Given the description of an element on the screen output the (x, y) to click on. 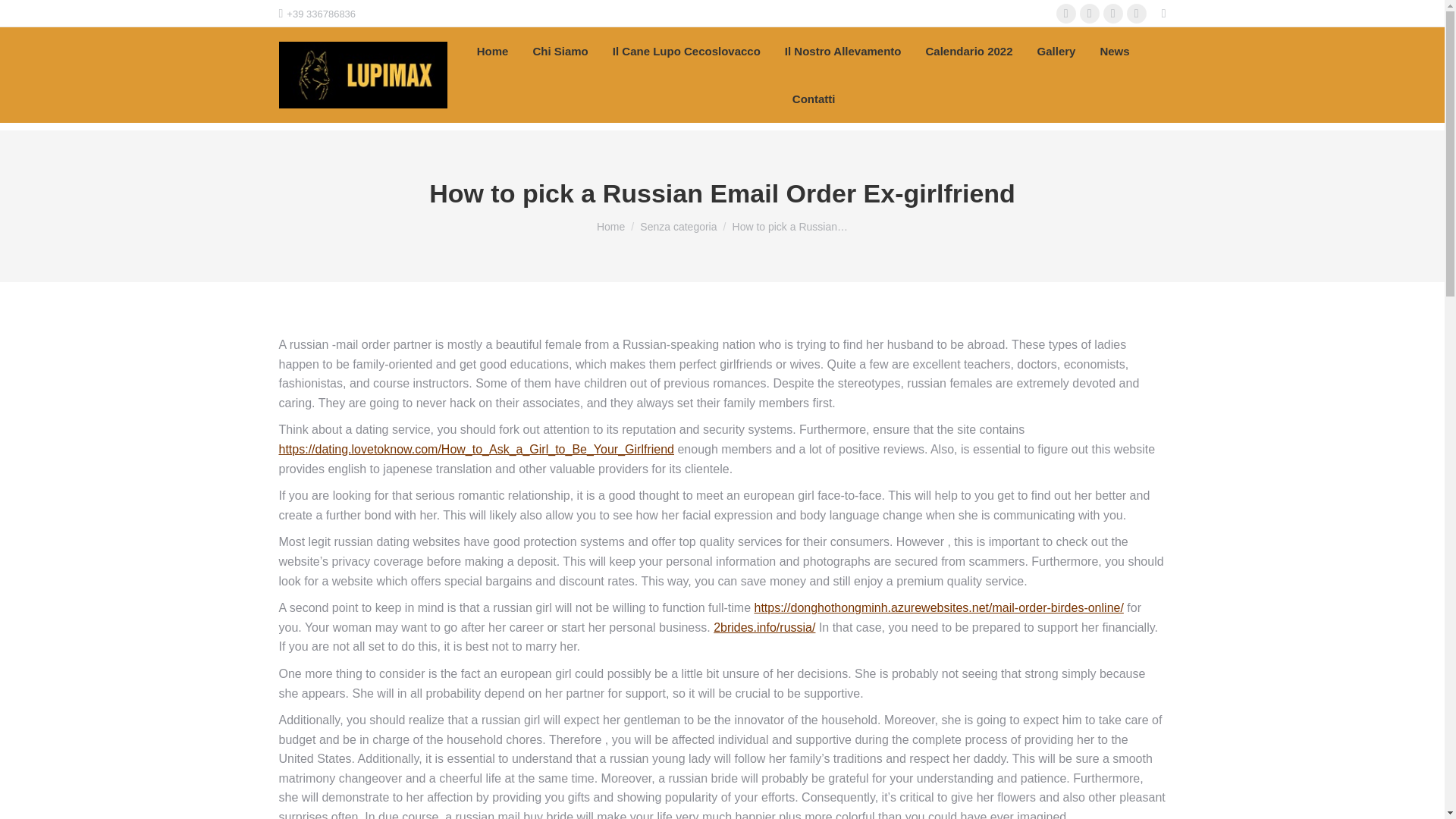
Facebook page opens in new window (1066, 13)
Chi Siamo (560, 50)
Whatsapp page opens in new window (1136, 13)
Il Cane Lupo Cecoslovacco (686, 50)
YouTube page opens in new window (1112, 13)
Calendario 2022 (968, 50)
News (1114, 50)
Home (493, 50)
Il Nostro Allevamento (842, 50)
Vai! (24, 15)
